Given the description of an element on the screen output the (x, y) to click on. 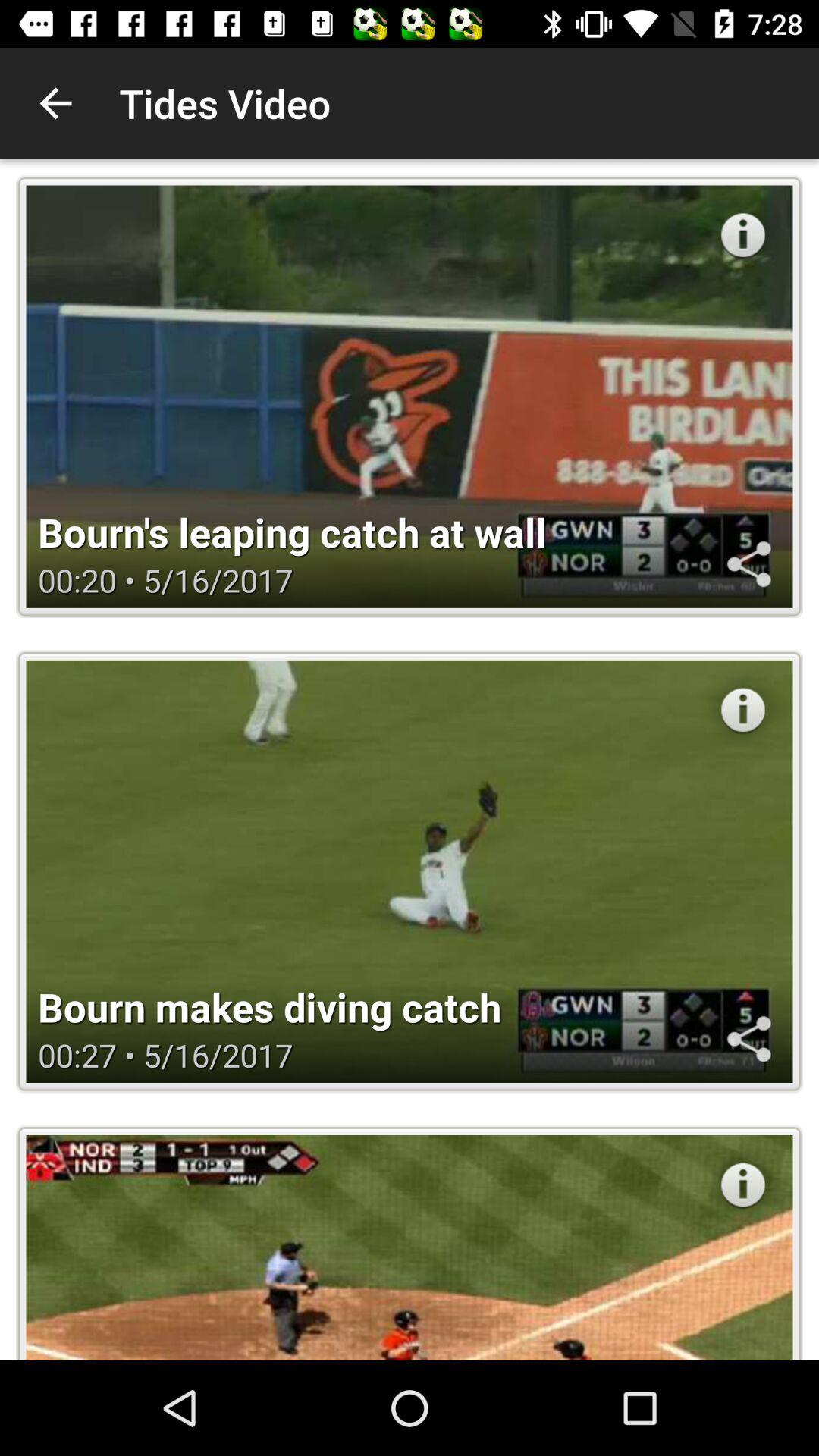
click the button on the bottom right side of the web page (742, 1184)
